Given the description of an element on the screen output the (x, y) to click on. 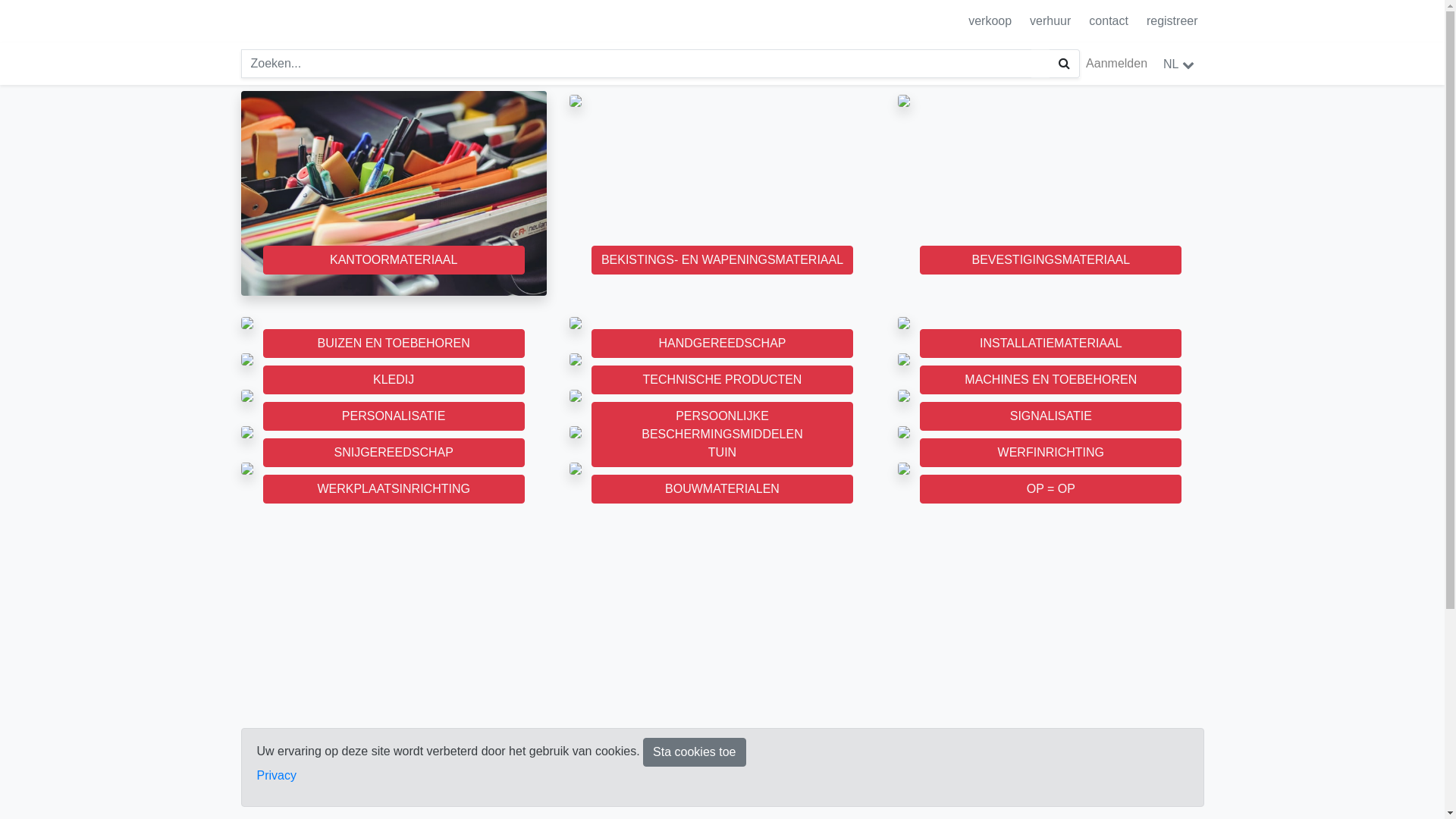
SNIJGEREEDSCHAP Element type: text (393, 452)
SNIJGEREEDSCHAP Element type: text (247, 432)
PERSOONLIJKE BESCHERMINGSMIDDELEN Element type: text (575, 395)
Sta cookies toe Element type: text (694, 751)
MACHINES EN TOEBEHOREN Element type: text (903, 359)
KANTOORMATERIAAL Element type: text (393, 259)
registreer Element type: text (1172, 21)
contact Element type: text (1108, 21)
SIGNALISATIE Element type: text (903, 395)
SIGNALISATIE Element type: text (1050, 415)
PERSONALISATIE Element type: text (247, 395)
HANDGEREEDSCHAP Element type: text (722, 343)
BEKISTINGS- EN WAPENINGSMATERIAAL Element type: text (575, 193)
KLEDIJ Element type: text (393, 379)
BEKISTINGS- EN WAPENINGSMATERIAAL Element type: text (722, 259)
BOUWMATERIALEN Element type: text (575, 468)
NL Element type: text (1178, 63)
WERFINRICHTING Element type: text (903, 432)
verkoop Element type: text (989, 21)
WERFINRICHTING Element type: text (1050, 452)
OP = OP Element type: text (1050, 488)
TECHNISCHE PRODUCTEN Element type: text (722, 379)
BOUWMATERIALEN Element type: text (722, 488)
MACHINES EN TOEBEHOREN Element type: text (1050, 379)
BUIZEN EN TOEBEHOREN Element type: text (247, 322)
PERSOONLIJKE BESCHERMINGSMIDDELEN Element type: text (722, 424)
PERSONALISATIE Element type: text (393, 415)
verhuur Element type: text (1049, 21)
Privacy Element type: text (275, 774)
KANTOORMATERIAAL Element type: text (393, 193)
BUIZEN EN TOEBEHOREN Element type: text (393, 343)
Aanmelden Element type: text (1116, 63)
HANDGEREEDSCHAP Element type: text (575, 322)
TUIN Element type: text (722, 452)
KLEDIJ Element type: text (247, 359)
WERKPLAATSINRICHTING Element type: text (393, 488)
BEVESTIGINGSMATERIAAL Element type: text (1050, 259)
WERKPLAATSINRICHTING Element type: text (247, 468)
TUIN Element type: text (575, 432)
INSTALLATIEMATERIAAL Element type: text (903, 322)
INSTALLATIEMATERIAAL Element type: text (1050, 343)
BEVESTIGINGSMATERIAAL Element type: text (903, 193)
OP = OP Element type: text (903, 468)
TECHNISCHE PRODUCTEN Element type: text (575, 359)
